Given the description of an element on the screen output the (x, y) to click on. 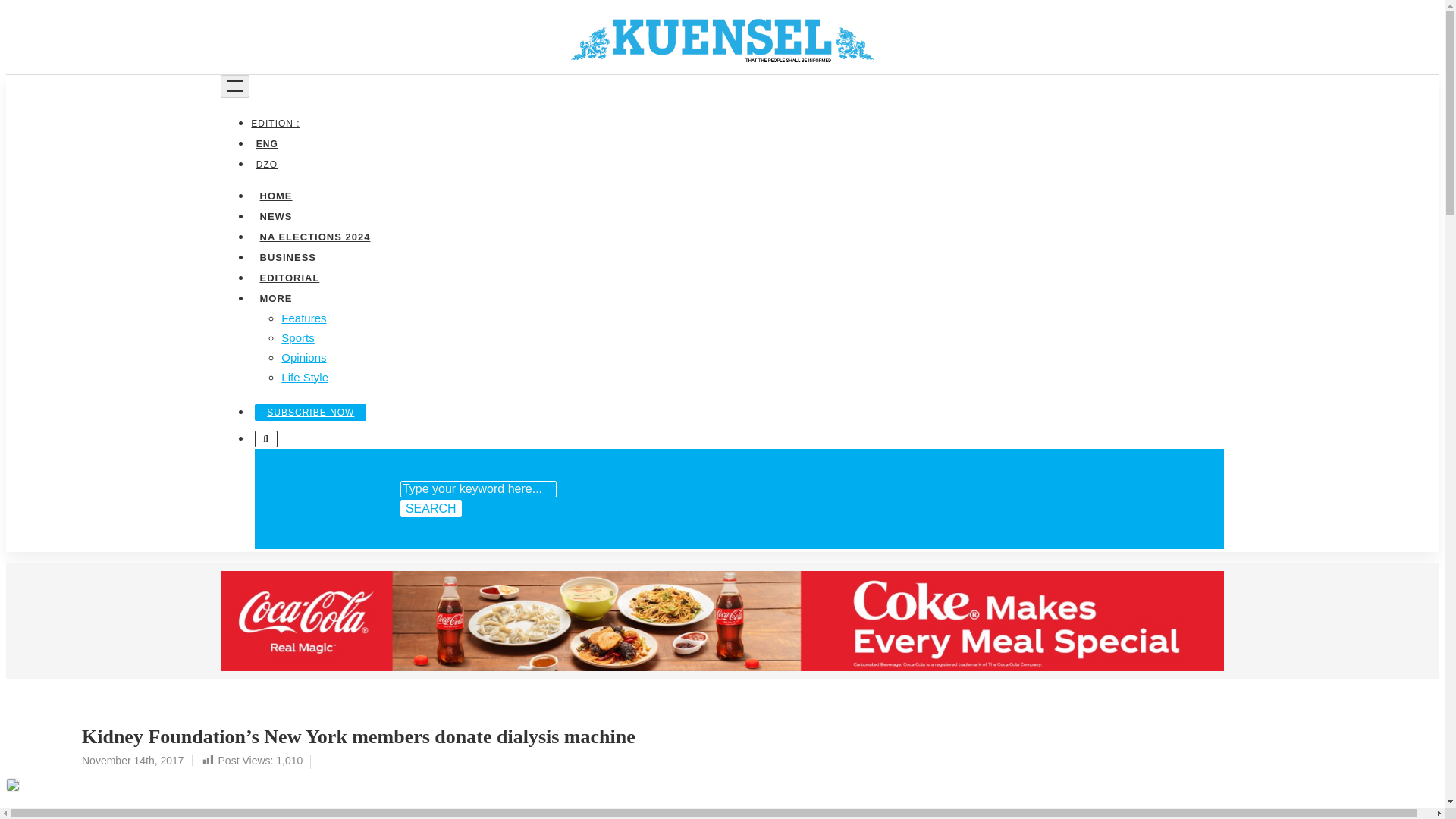
ENG (266, 143)
SUBSCRIBE NOW (310, 411)
HOME (274, 194)
EDITORIAL (288, 276)
EDITION : (277, 122)
NEWS (274, 215)
Opinions (303, 356)
Sports (297, 336)
Life Style (305, 376)
Features (303, 317)
MORE (274, 297)
NA ELECTIONS 2024 (314, 235)
DZO (266, 163)
SEARCH (430, 508)
BUSINESS (287, 256)
